Given the description of an element on the screen output the (x, y) to click on. 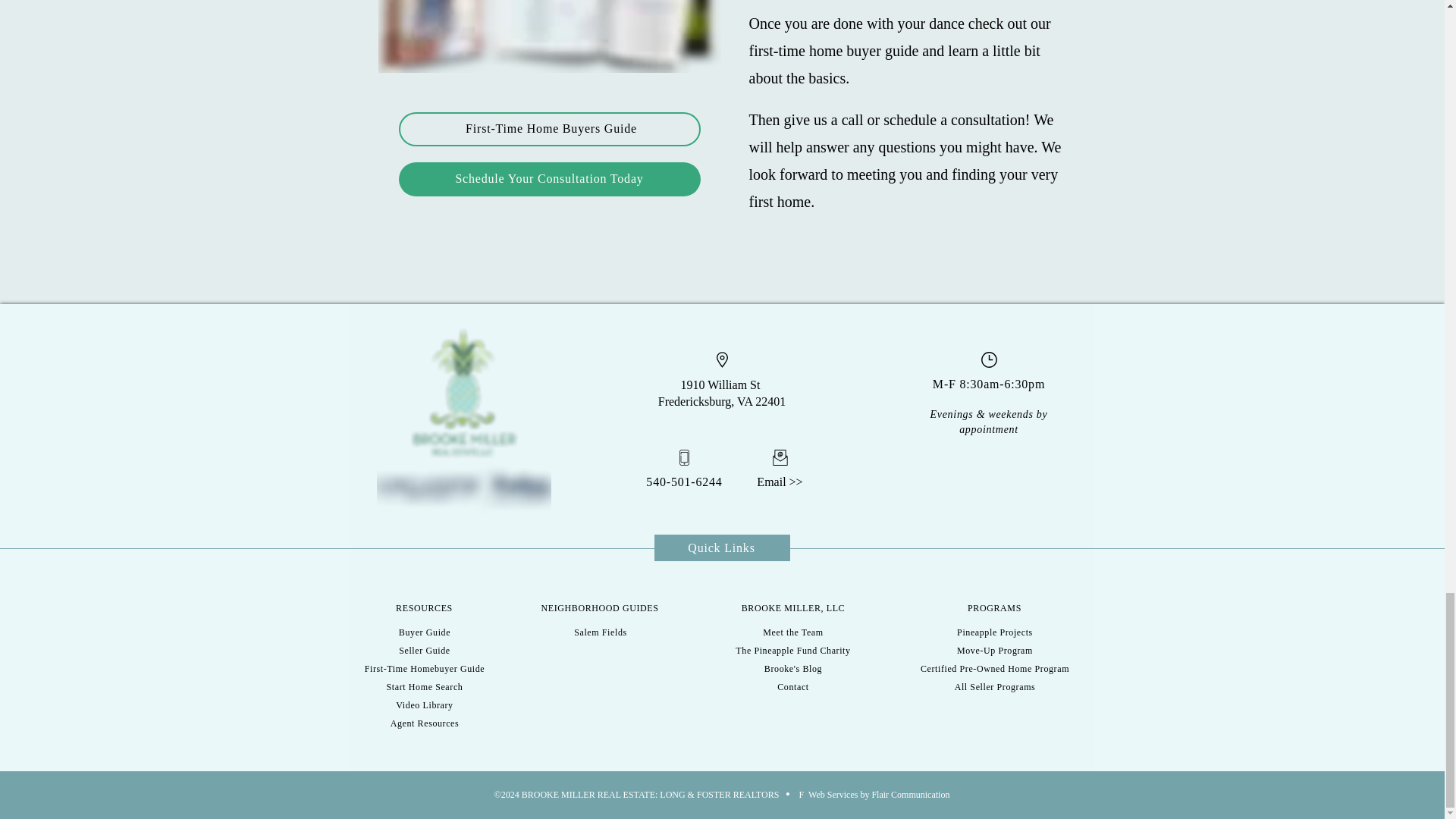
Seller Guide (423, 650)
First-Time Home Buyers Guide (549, 129)
Video Library (424, 705)
540-501-6244 (684, 481)
Start Home Search (425, 686)
Schedule Your Consultation Today (549, 179)
First-Time Homebuyer Guide (424, 668)
Buyer Guide (423, 632)
